Given the description of an element on the screen output the (x, y) to click on. 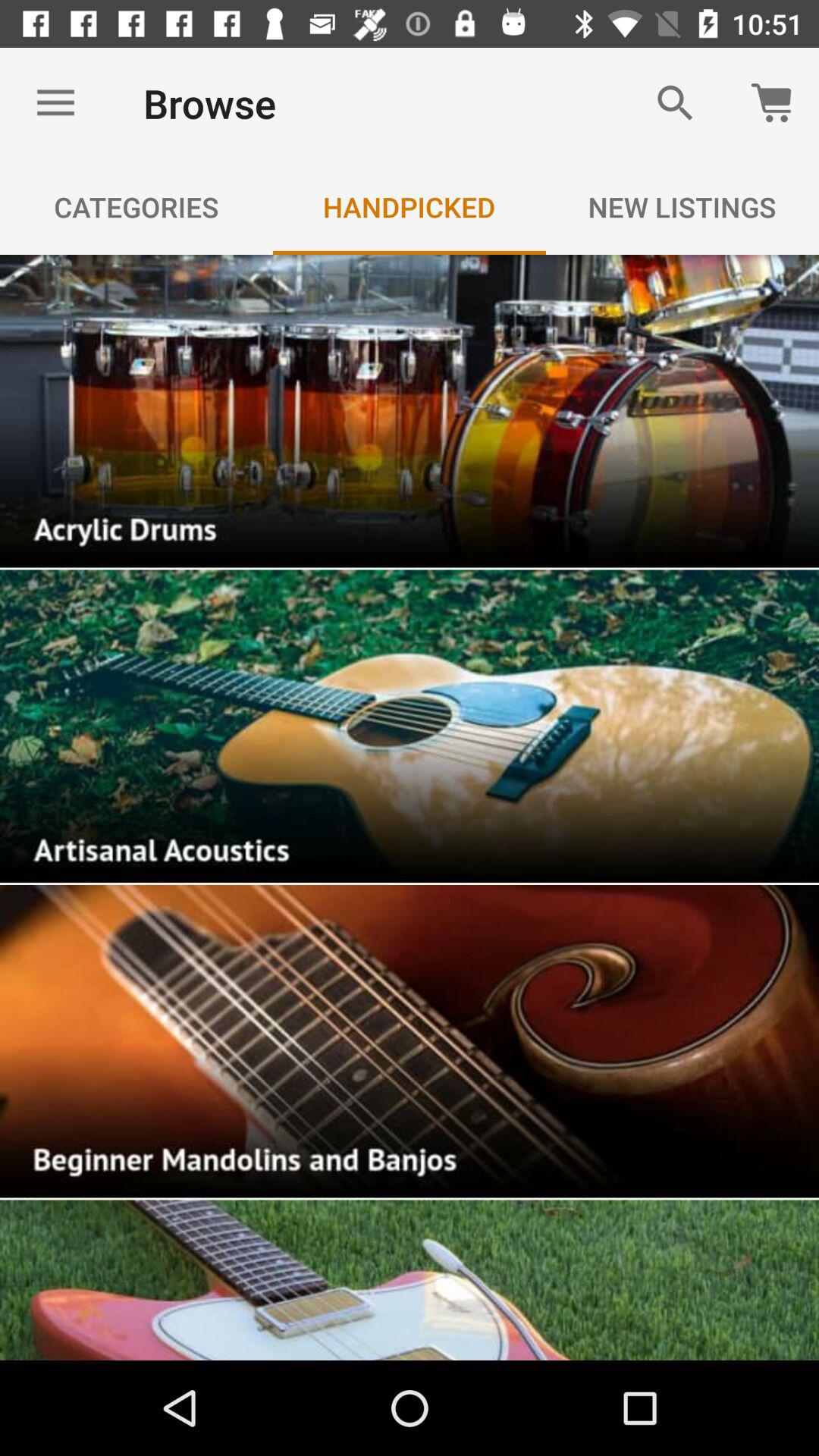
turn on icon next to browse item (55, 103)
